Given the description of an element on the screen output the (x, y) to click on. 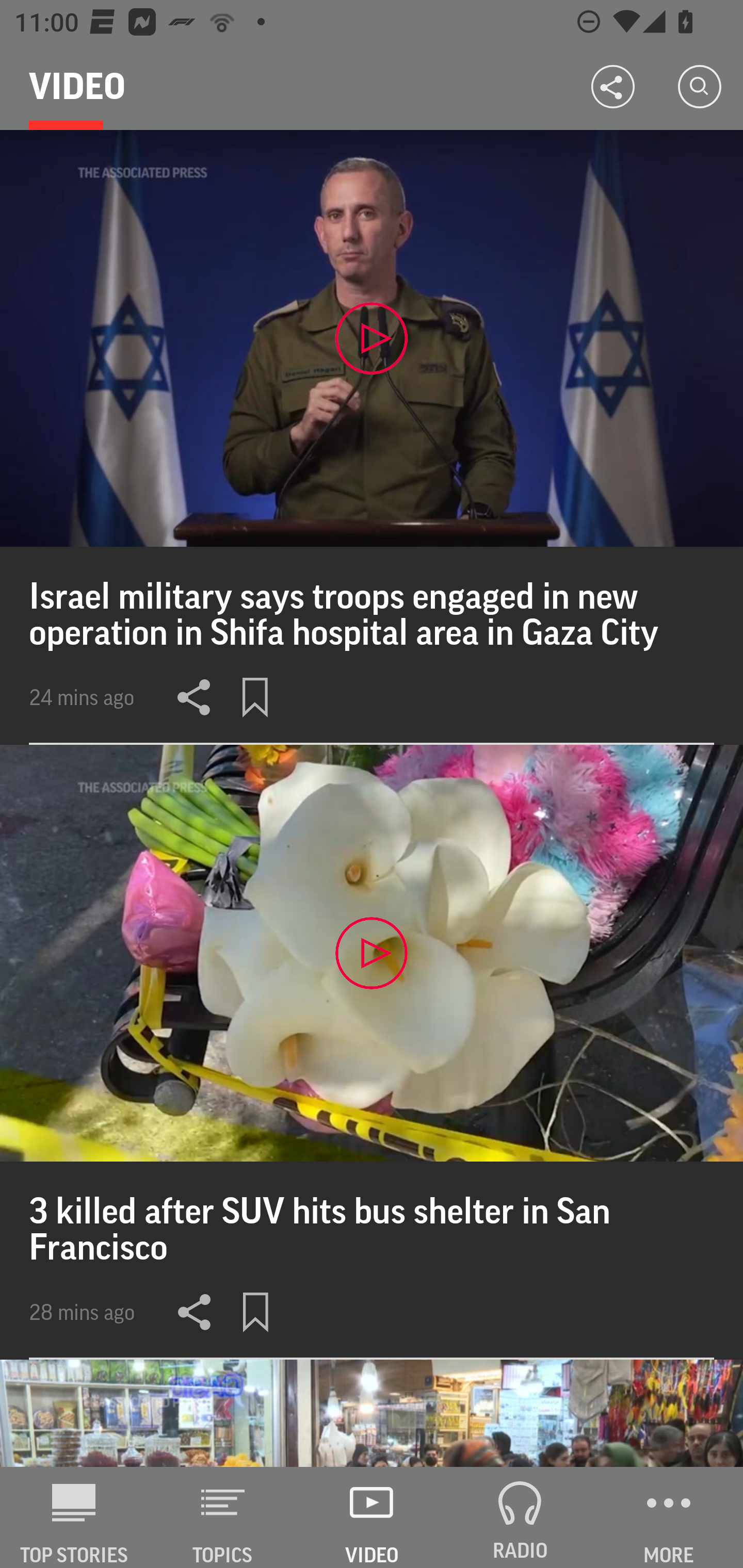
AP News TOP STORIES (74, 1517)
TOPICS (222, 1517)
VIDEO (371, 1517)
RADIO (519, 1517)
MORE (668, 1517)
